Given the description of an element on the screen output the (x, y) to click on. 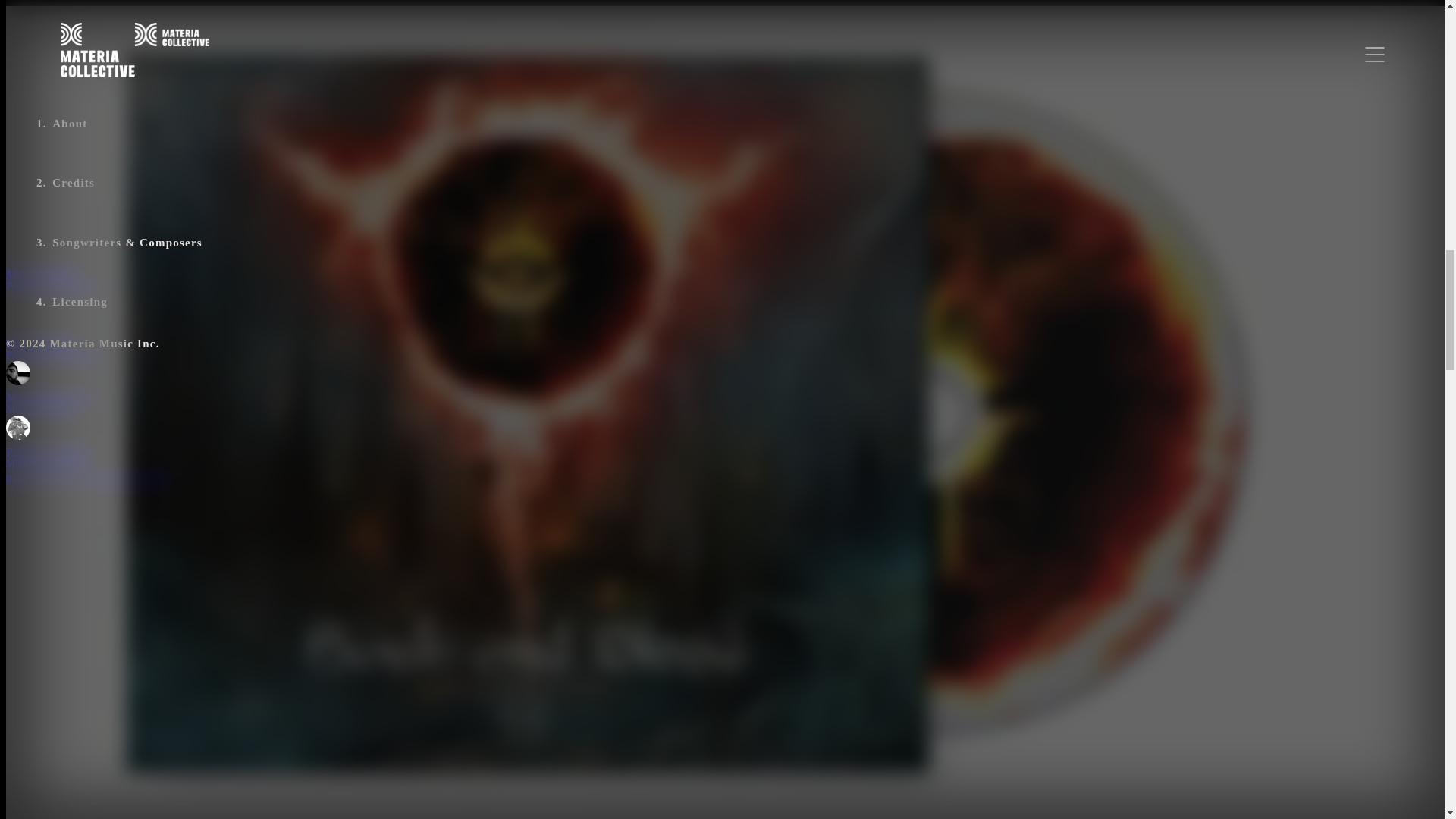
Report incorrect or missing information. (89, 479)
Throne of Want artists and credits (263, 387)
